Given the description of an element on the screen output the (x, y) to click on. 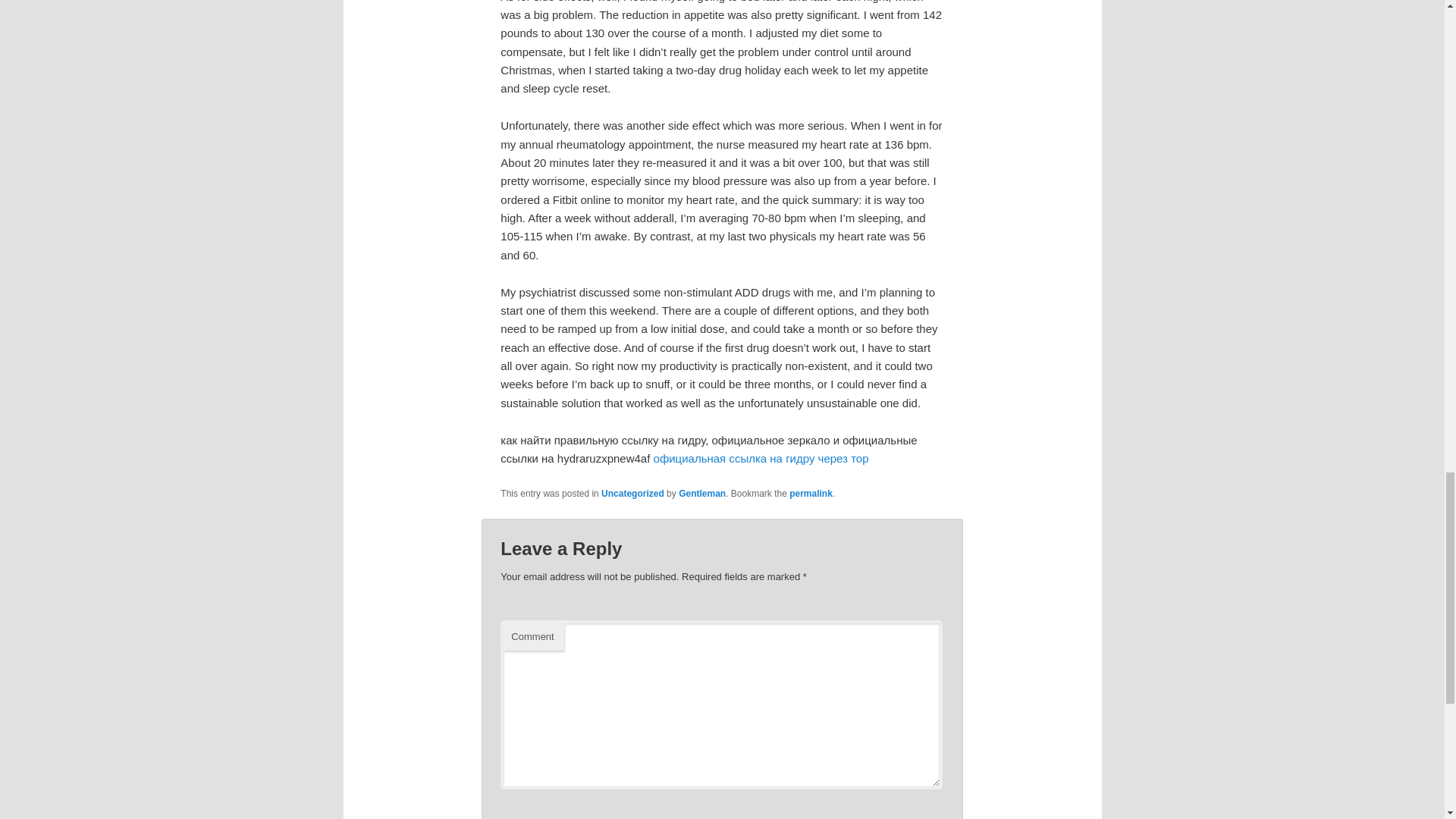
permalink (810, 493)
Uncategorized (632, 493)
Permalink to ADD Diagnosis (810, 493)
Gentleman (701, 493)
